Given the description of an element on the screen output the (x, y) to click on. 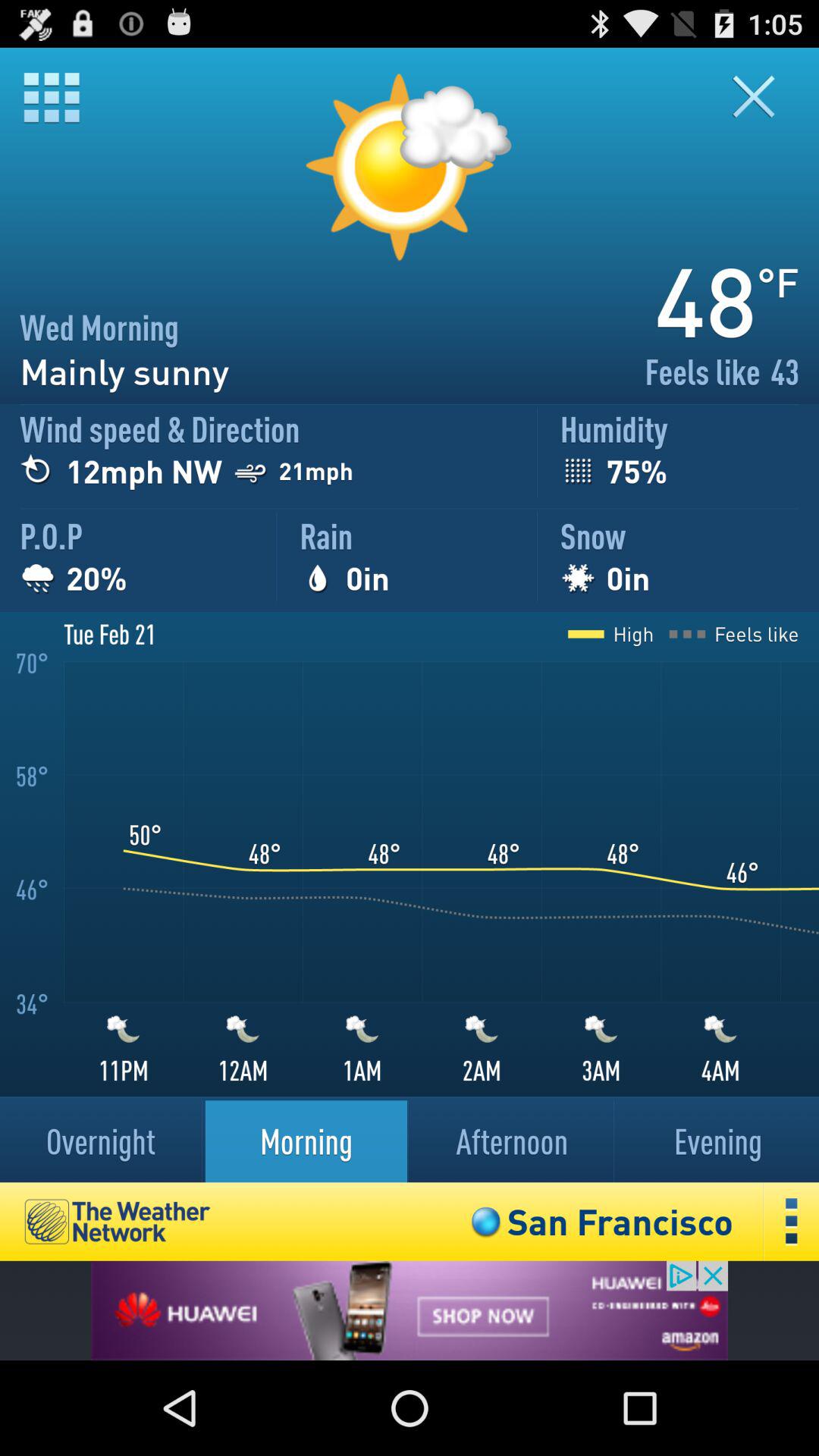
close the window (763, 96)
